Given the description of an element on the screen output the (x, y) to click on. 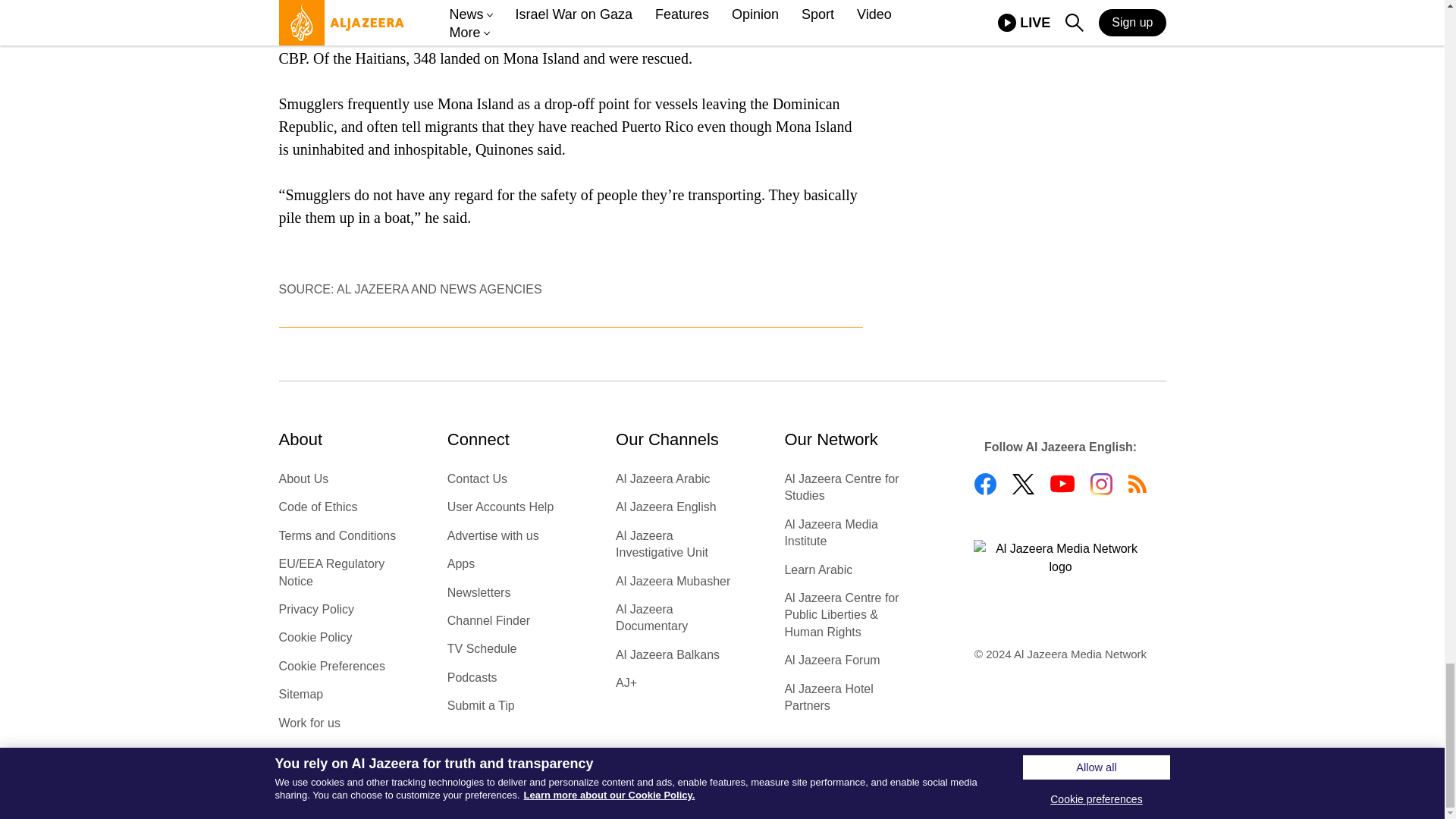
instagram-colored-outline (1101, 484)
twitter (1022, 484)
rss (1137, 484)
youtube (1061, 483)
facebook (984, 484)
